Given the description of an element on the screen output the (x, y) to click on. 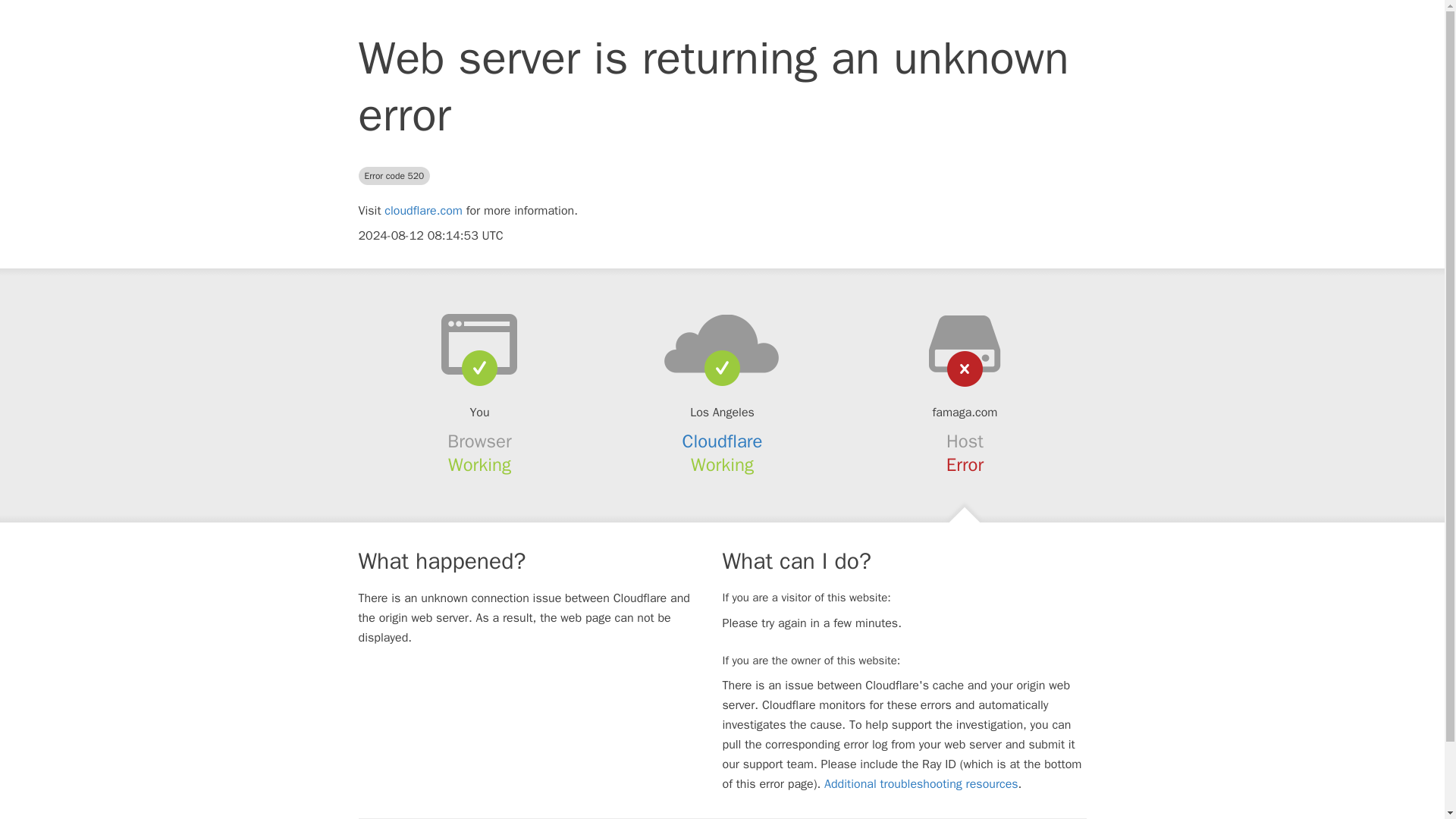
cloudflare.com (423, 210)
Additional troubleshooting resources (920, 783)
Cloudflare (722, 440)
